Given the description of an element on the screen output the (x, y) to click on. 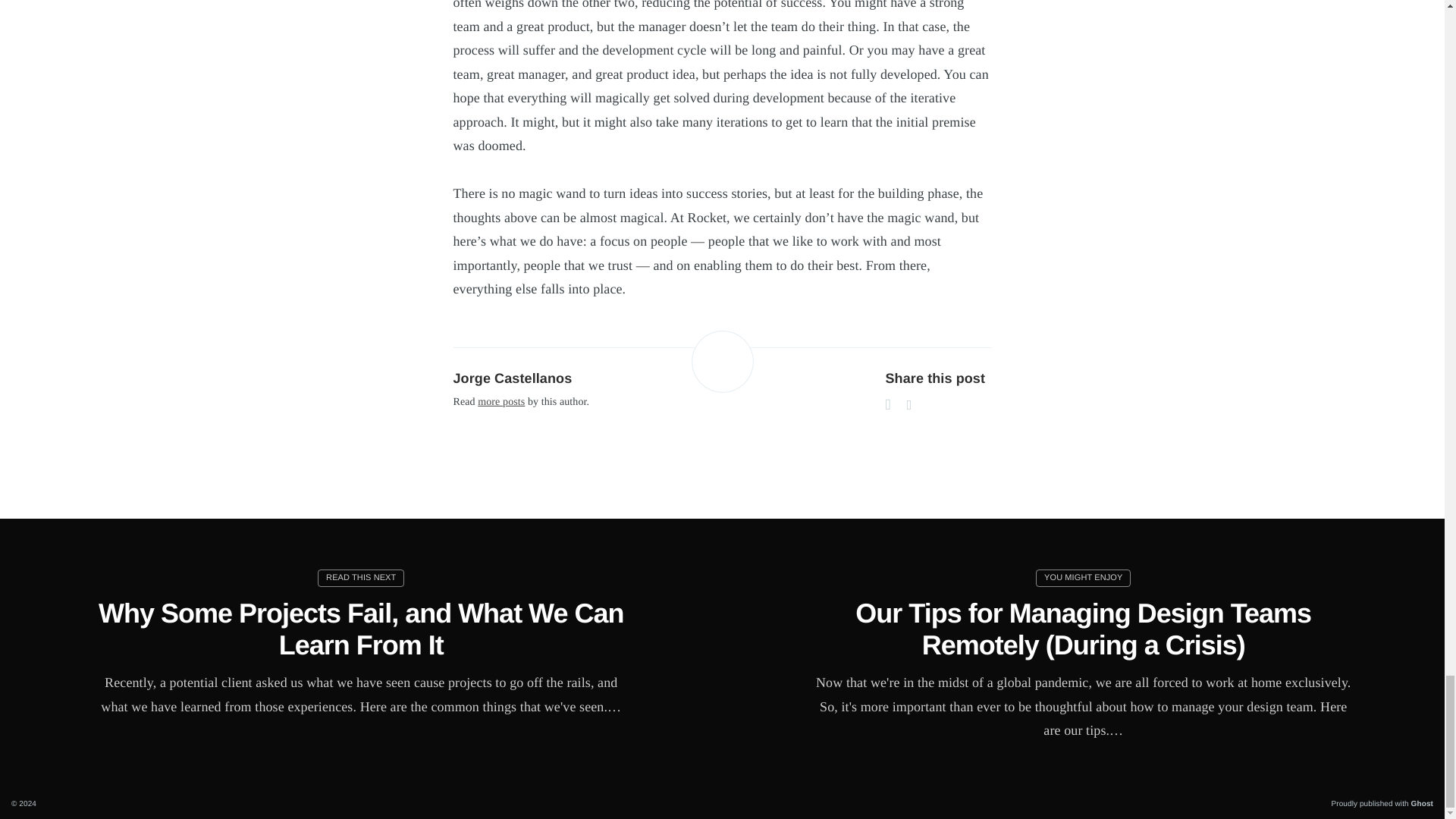
more posts (500, 401)
Jorge Castellanos (512, 378)
Ghost (1421, 804)
